Given the description of an element on the screen output the (x, y) to click on. 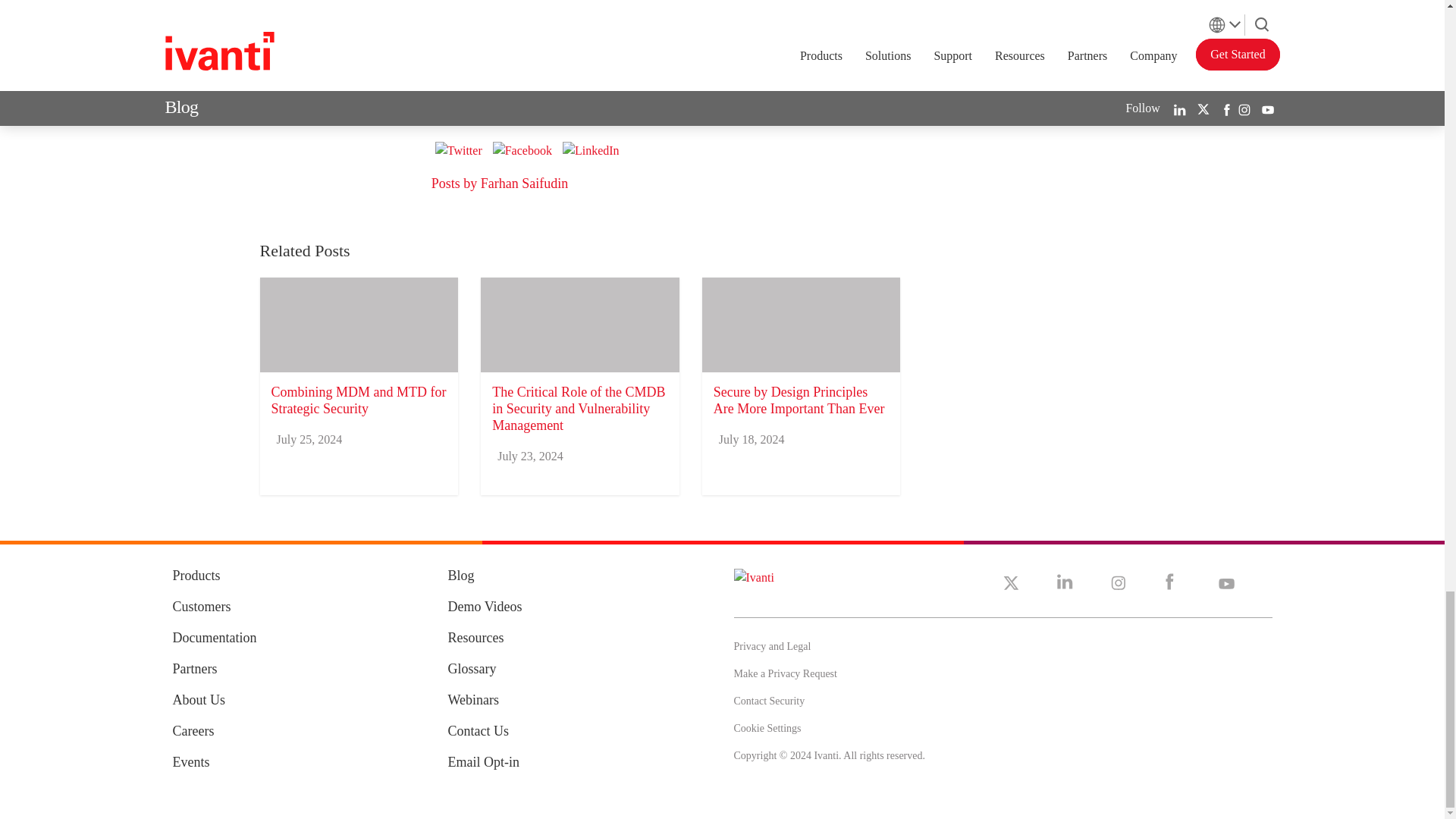
LinkedIn (1065, 581)
YouTube (1225, 580)
Instagram (1117, 581)
Twitter (1010, 582)
